Given the description of an element on the screen output the (x, y) to click on. 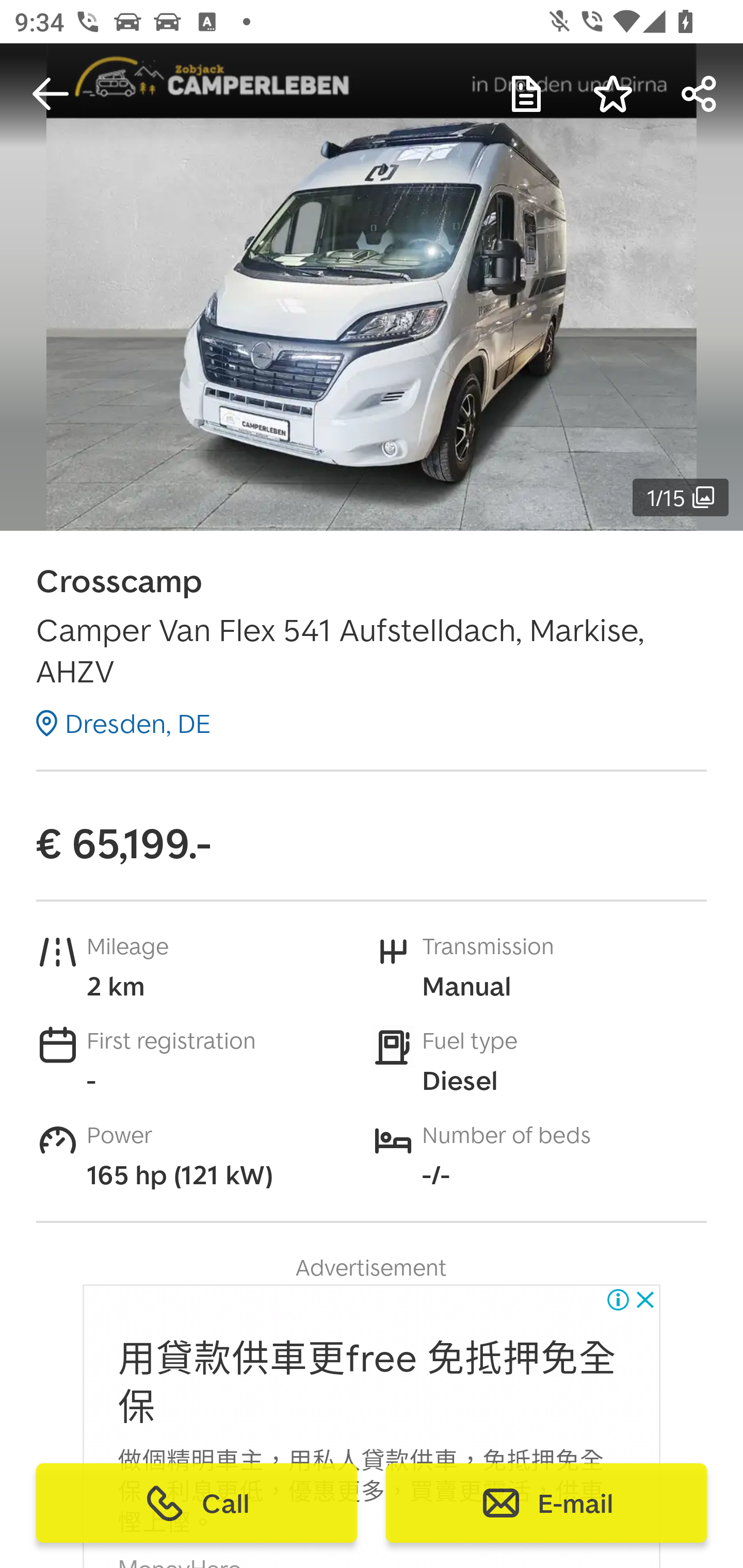
Navigate up (50, 93)
My Notes (525, 93)
Save (612, 93)
Forward (699, 93)
Dresden, DE (123, 722)
用貸款供車更free 免抵押免全 保 用貸款供車更free 免抵押免全 保 (366, 1382)
Call (196, 1502)
E-mail (545, 1502)
